Given the description of an element on the screen output the (x, y) to click on. 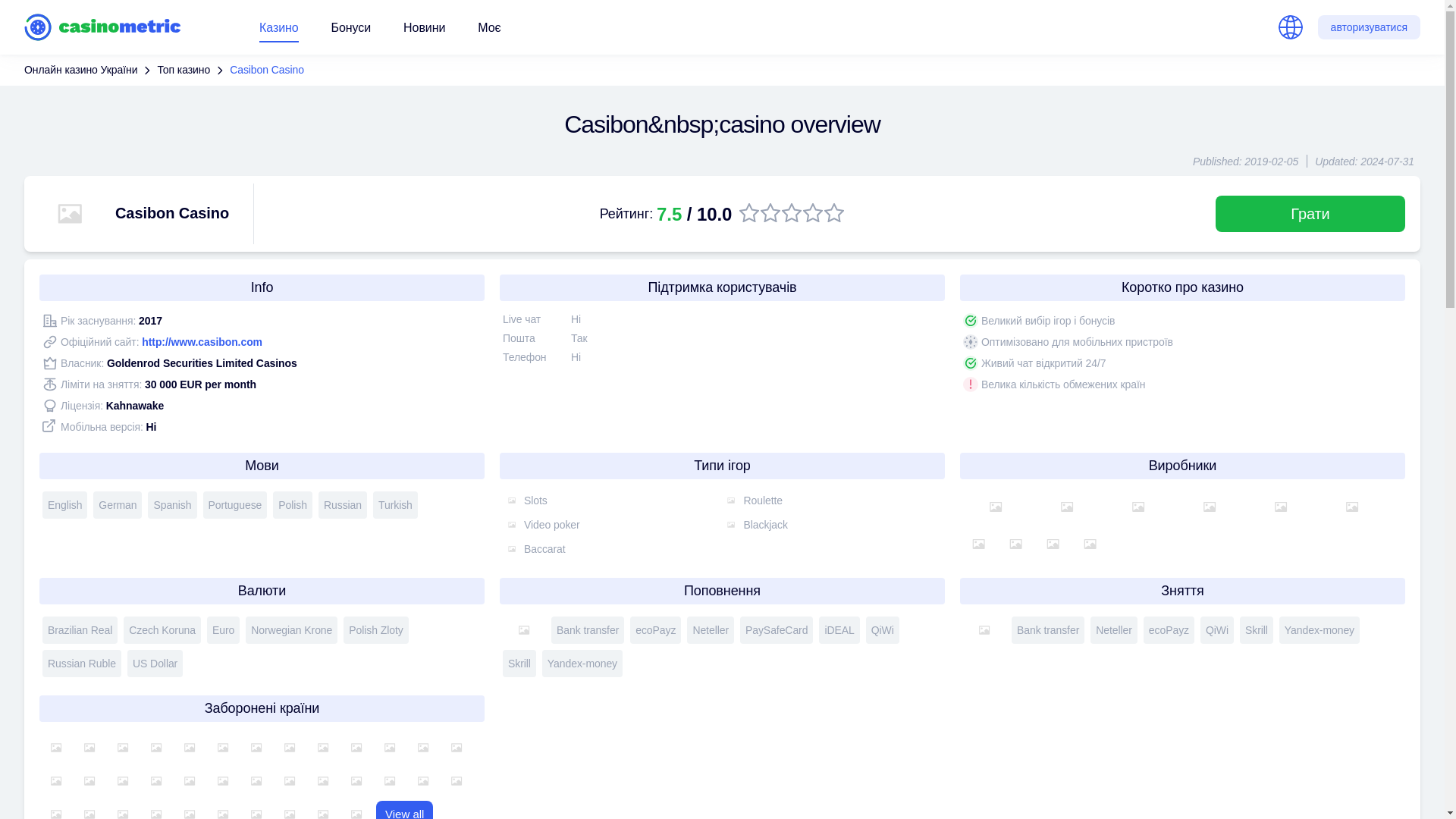
Visa (523, 629)
Visa (984, 629)
Blackjack (730, 524)
Slots (511, 500)
View all (403, 809)
Video poker (511, 524)
Baccarat (511, 548)
Roulette (730, 500)
Casibon Casino (267, 69)
